Given the description of an element on the screen output the (x, y) to click on. 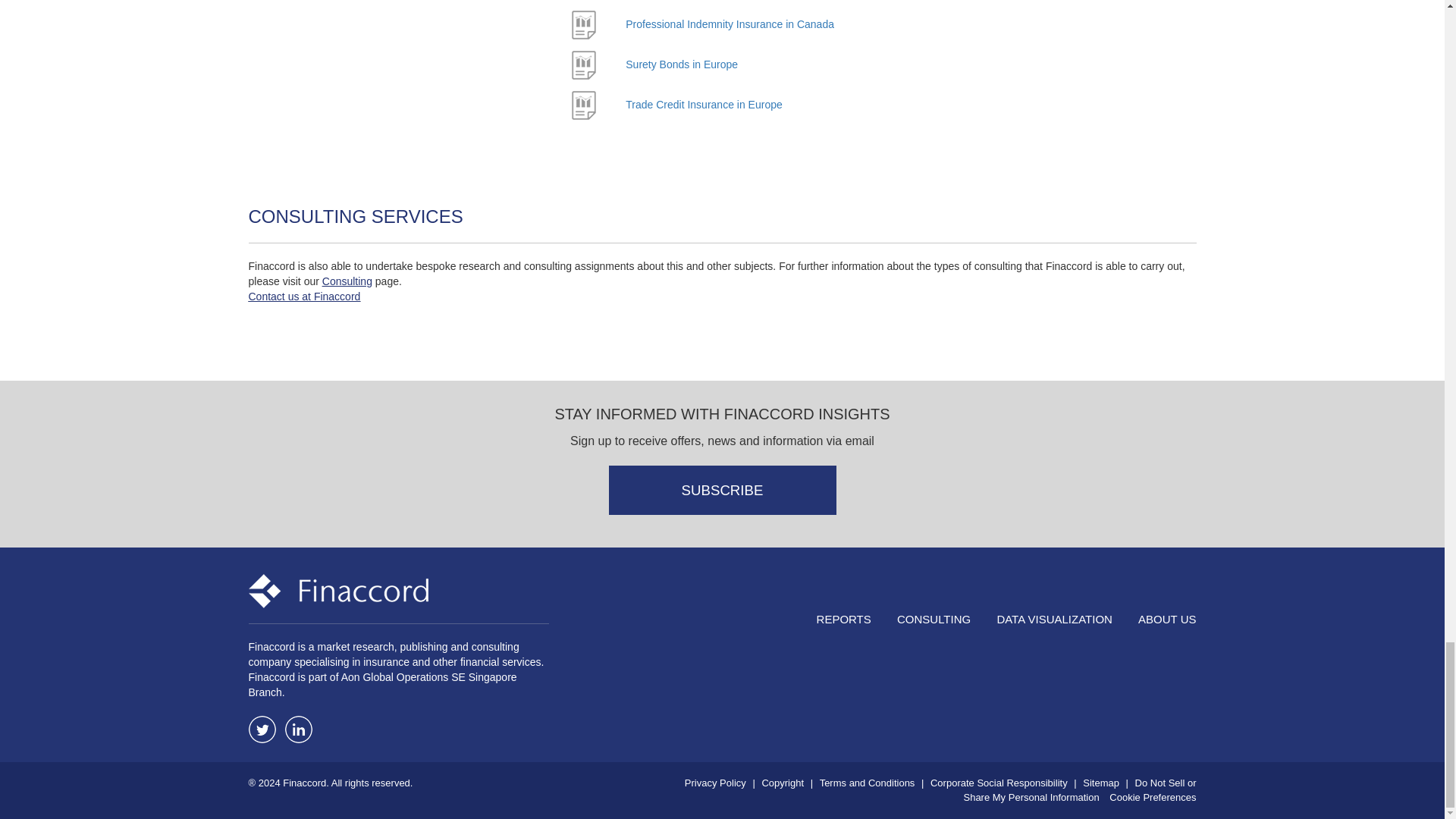
Consulting (346, 281)
SUBSCRIBE (721, 490)
Surety Bonds in Europe (682, 64)
Trade Credit Insurance in Europe (703, 104)
Professional Indemnity Insurance in Canada (730, 24)
Contact us at Finaccord (304, 296)
